Given the description of an element on the screen output the (x, y) to click on. 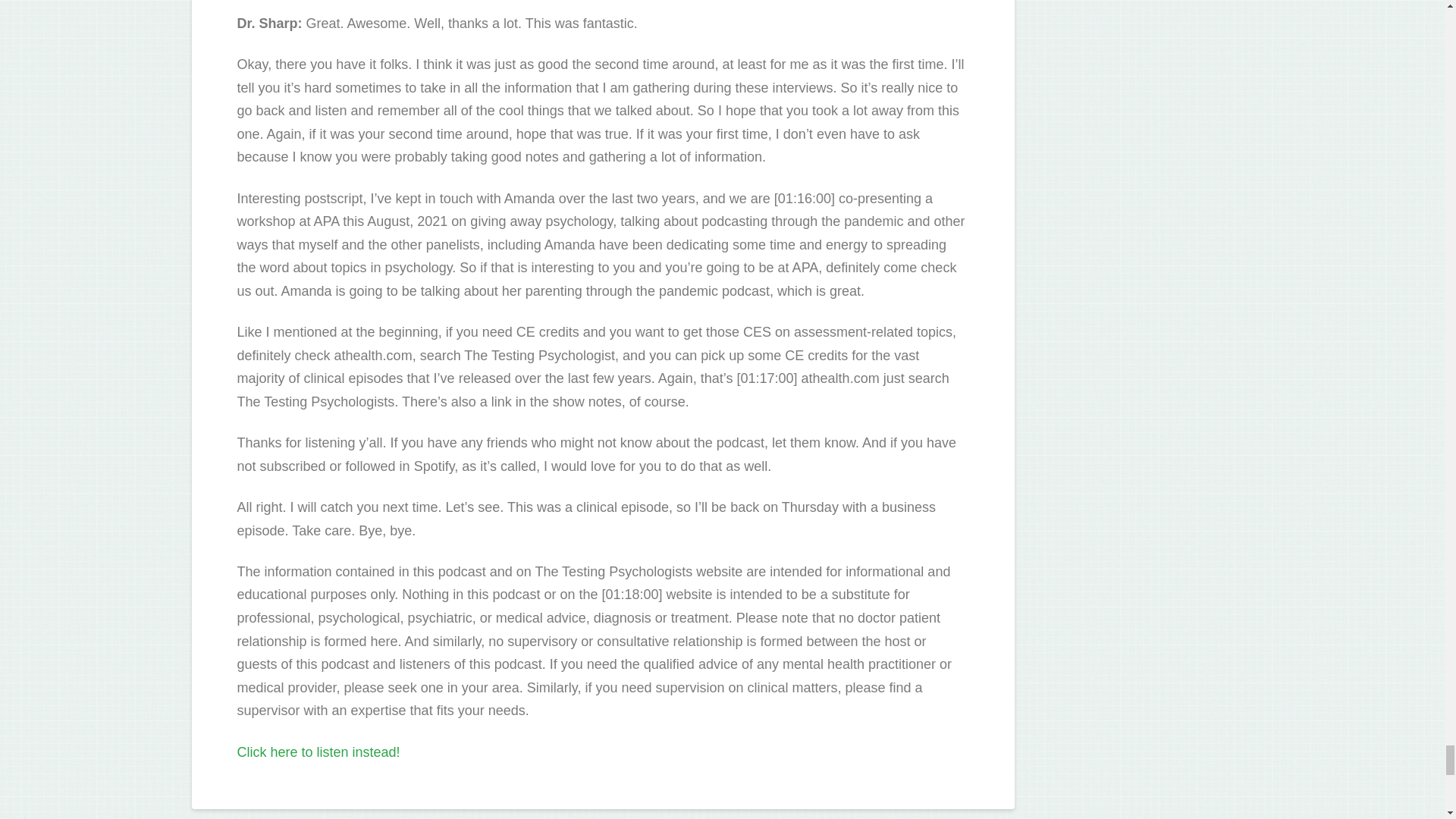
Click here to listen instead! (316, 752)
